Given the description of an element on the screen output the (x, y) to click on. 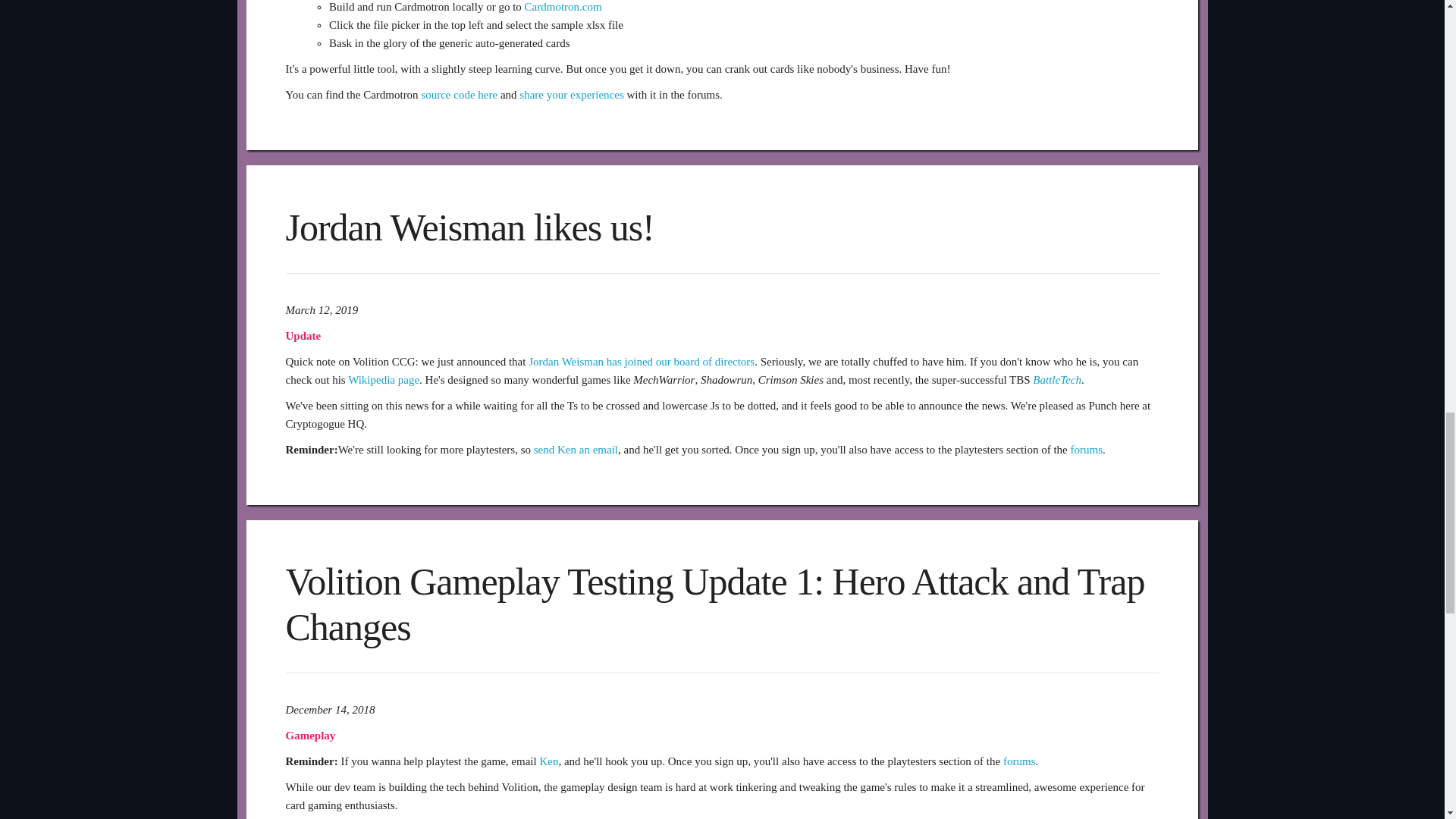
Jordan Weisman has joined our board of directors (641, 360)
Wikipedia page (383, 378)
send Ken an email (575, 449)
BattleTech (1056, 378)
Cardmotron.com (563, 6)
share your experiences (571, 94)
source code here (458, 94)
forums (1086, 449)
Ken (547, 761)
forums (1019, 761)
